Given the description of an element on the screen output the (x, y) to click on. 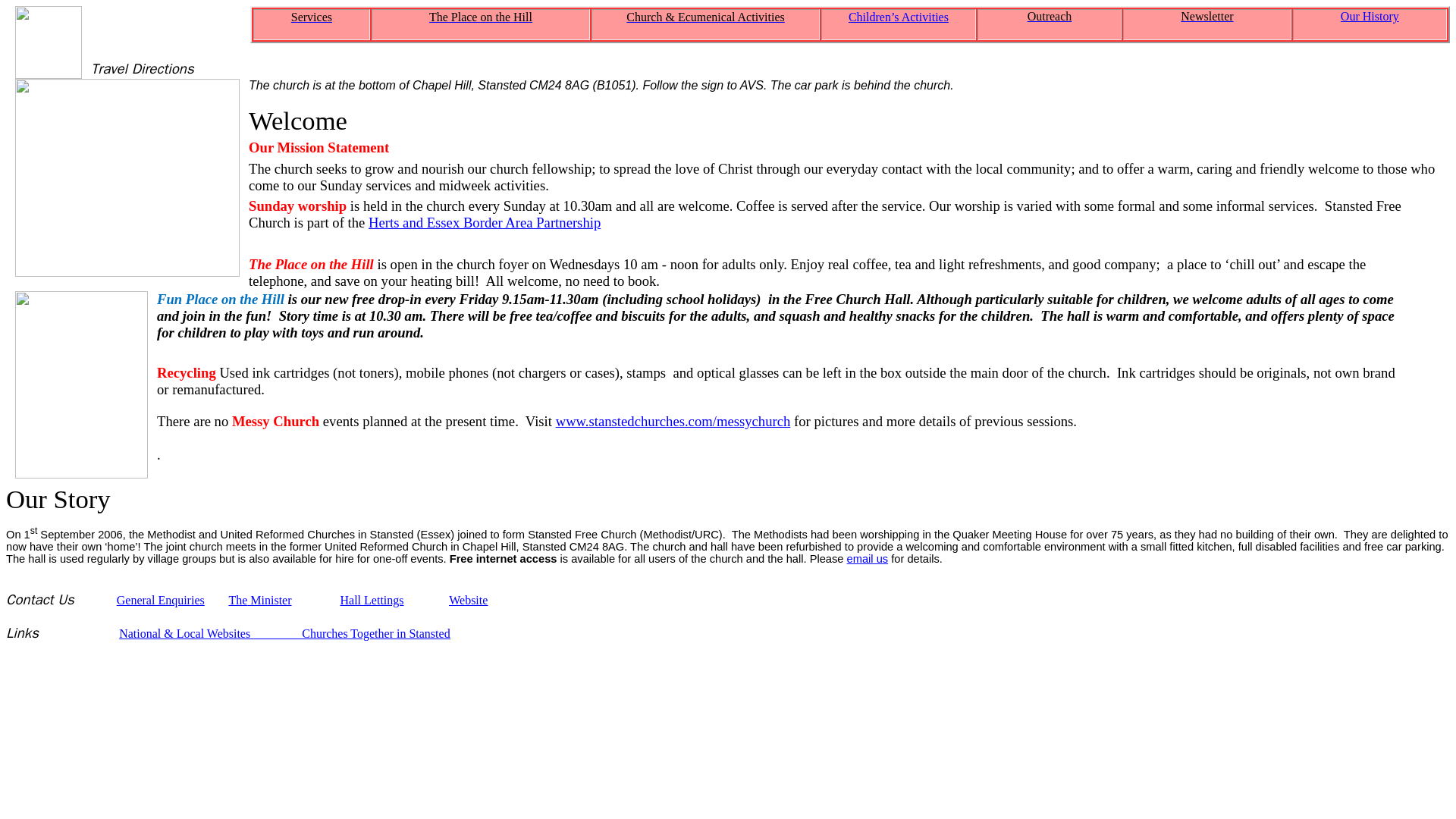
Outreach (1049, 15)
National (141, 633)
Churches Together in Stansted (375, 633)
The Place on the Hill (480, 16)
Newsletter (1206, 15)
The Minister (259, 599)
Our History (1369, 15)
Website (467, 599)
Herts and Essex Border Area Partnership (483, 222)
Hall Lettings (372, 599)
email us (867, 558)
Services (311, 16)
General Enquiries (160, 599)
